Given the description of an element on the screen output the (x, y) to click on. 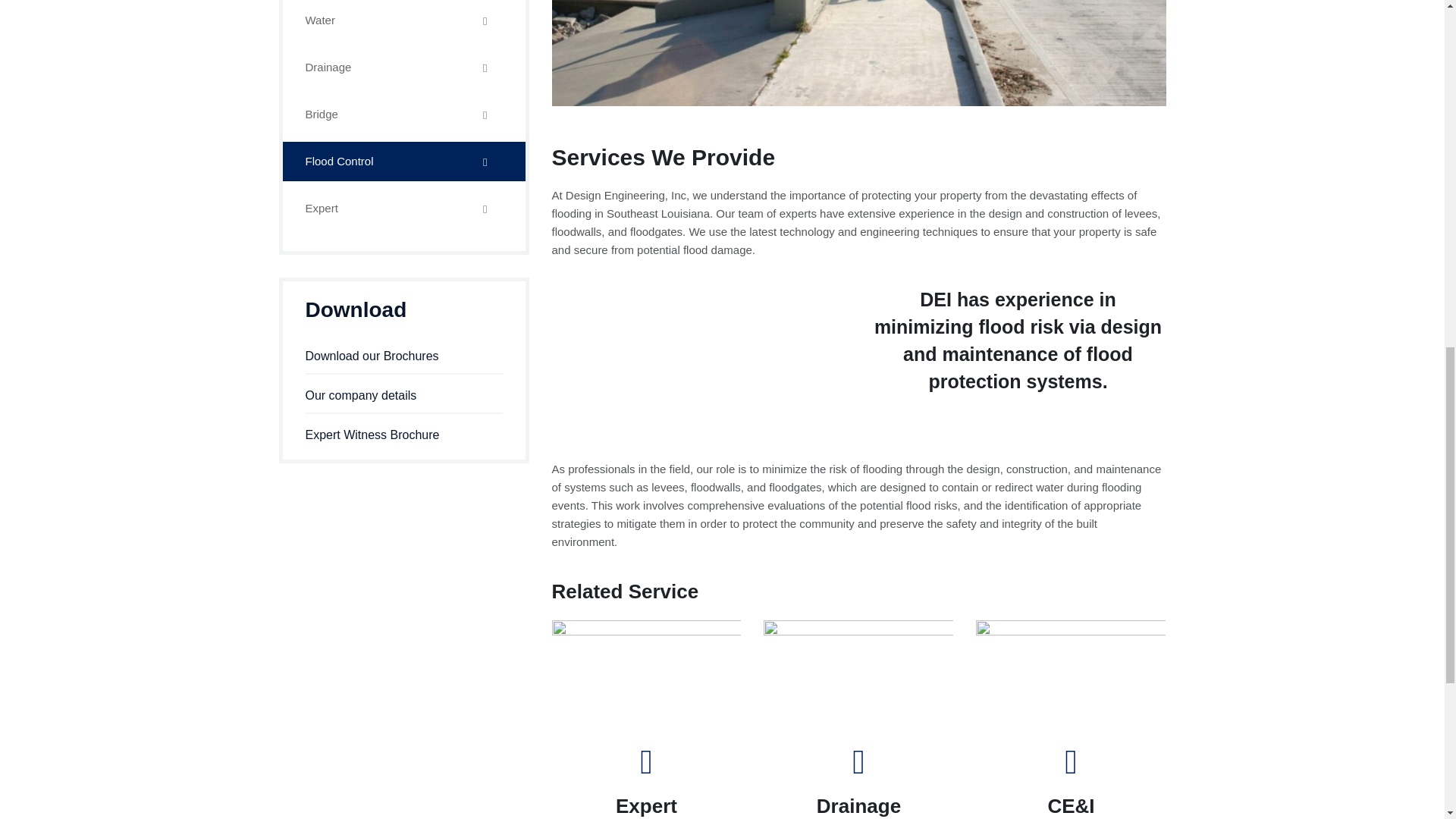
Expert (646, 805)
Drainage (858, 805)
Water (403, 20)
